Given the description of an element on the screen output the (x, y) to click on. 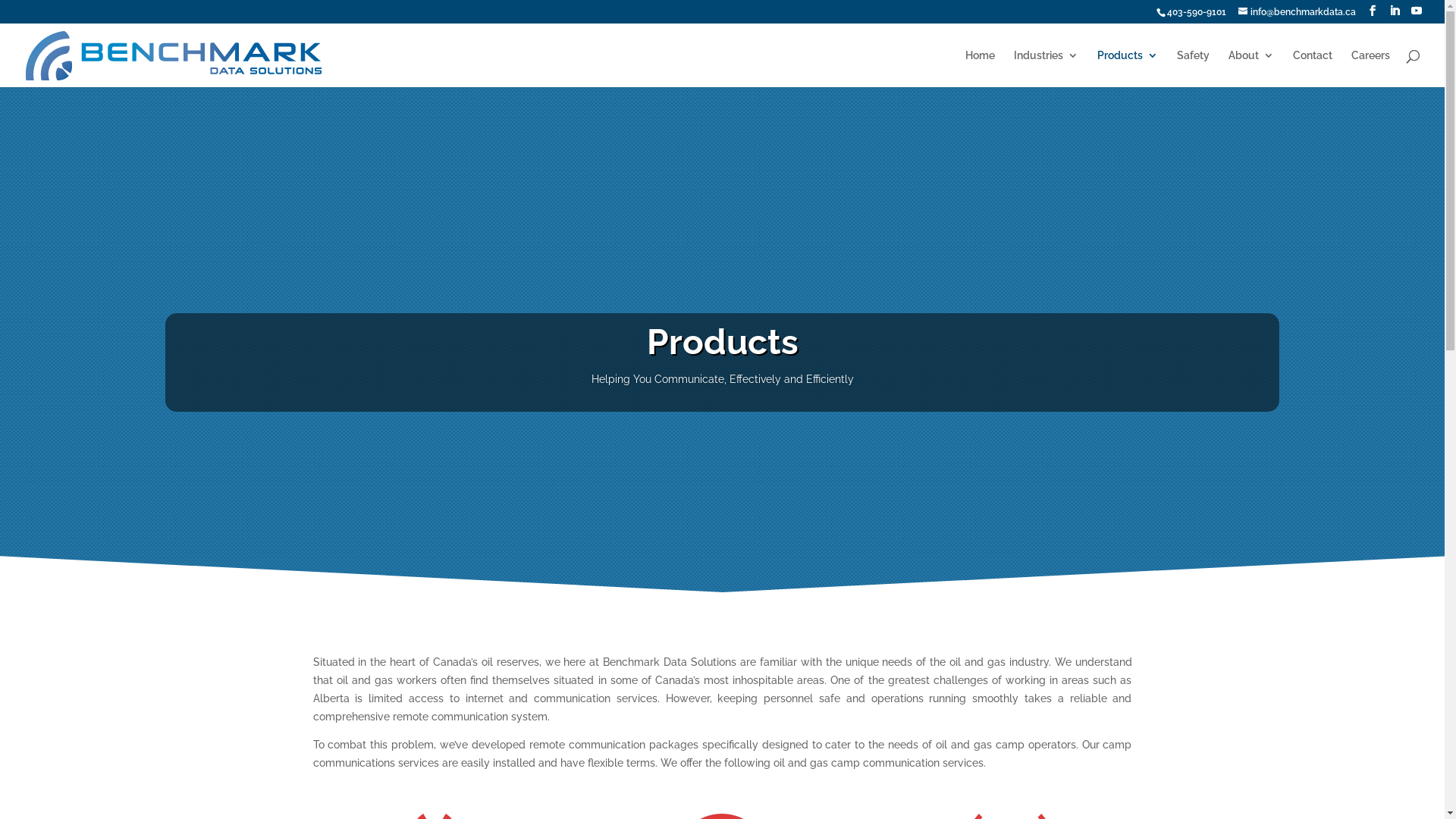
Home Element type: text (979, 68)
Industries Element type: text (1045, 68)
info@benchmarkdata.ca Element type: text (1296, 11)
Safety Element type: text (1192, 68)
Contact Element type: text (1312, 68)
403-590-9101 Element type: text (1196, 11)
About Element type: text (1251, 68)
Careers Element type: text (1370, 68)
Products Element type: text (1127, 68)
